Given the description of an element on the screen output the (x, y) to click on. 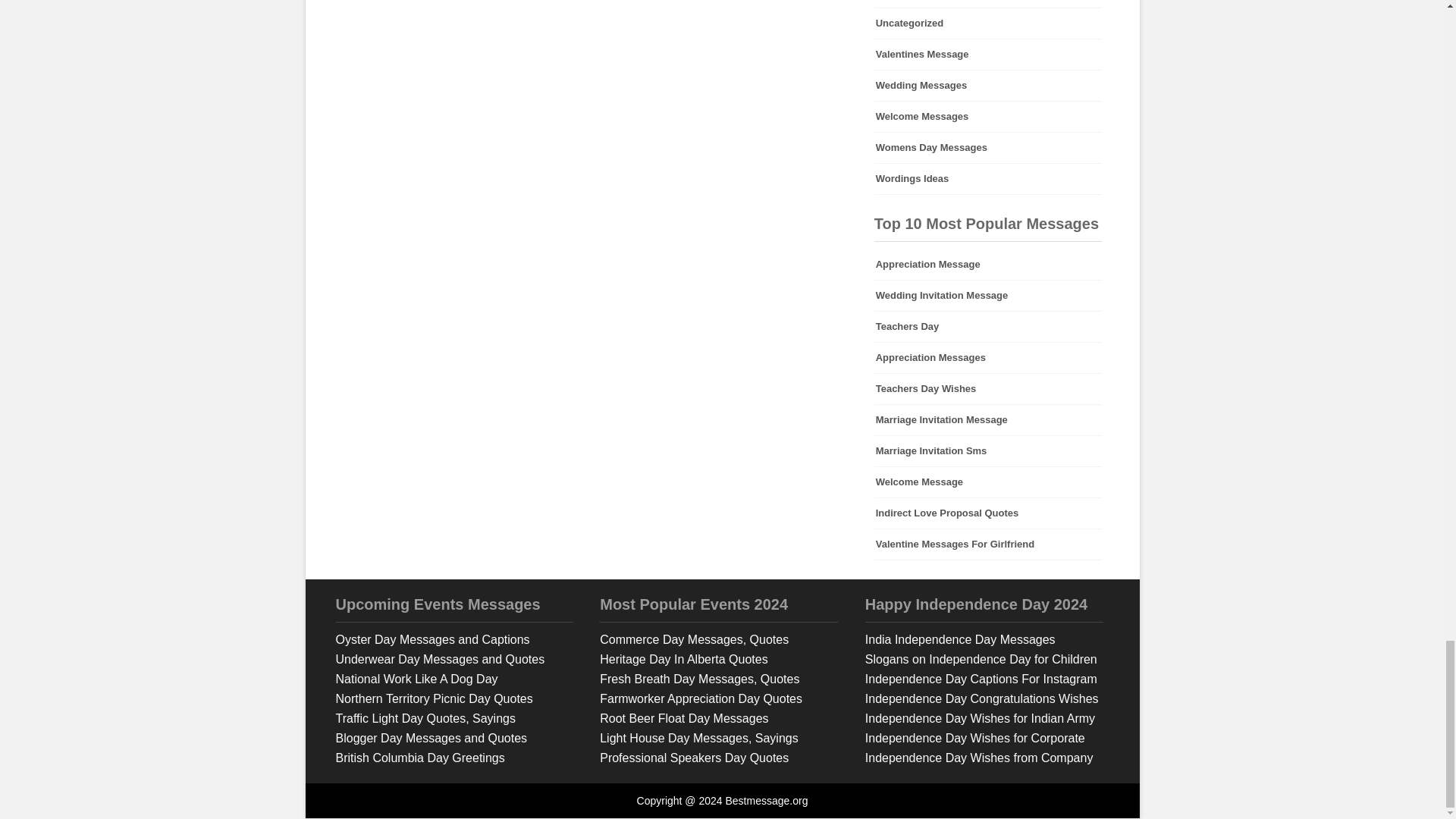
appreciation messages (988, 358)
marriage invitation message (988, 419)
wedding invitation message (988, 295)
teachers day (988, 327)
appreciation message (988, 264)
teachers day wishes (988, 388)
